Given the description of an element on the screen output the (x, y) to click on. 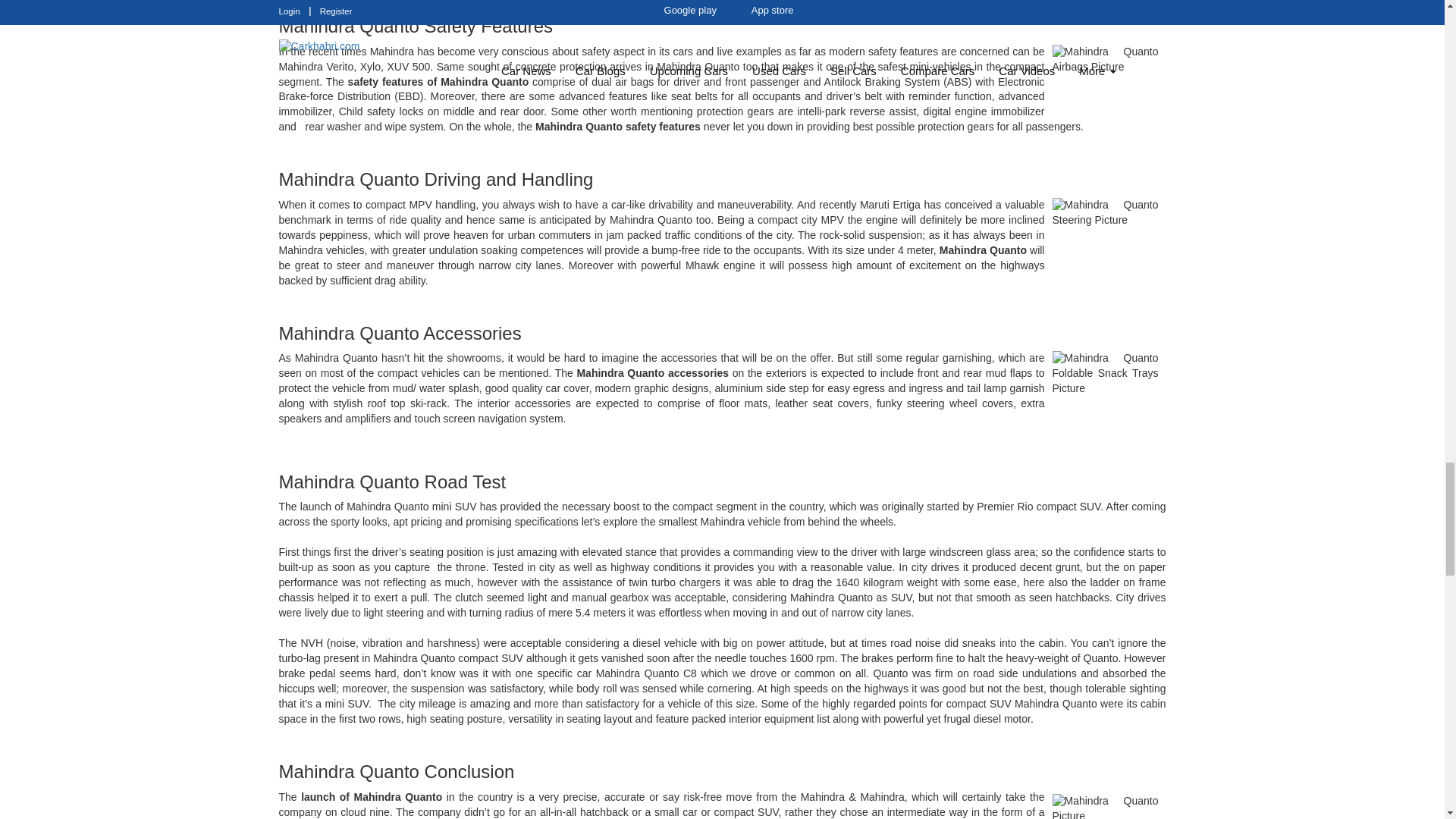
Mahindra Quanto Foldable Snack Trays Picture (1105, 385)
Mahindra Quanto Steering Picture (1105, 232)
Mahindra Quanto Airbags Picture (1105, 79)
